Given the description of an element on the screen output the (x, y) to click on. 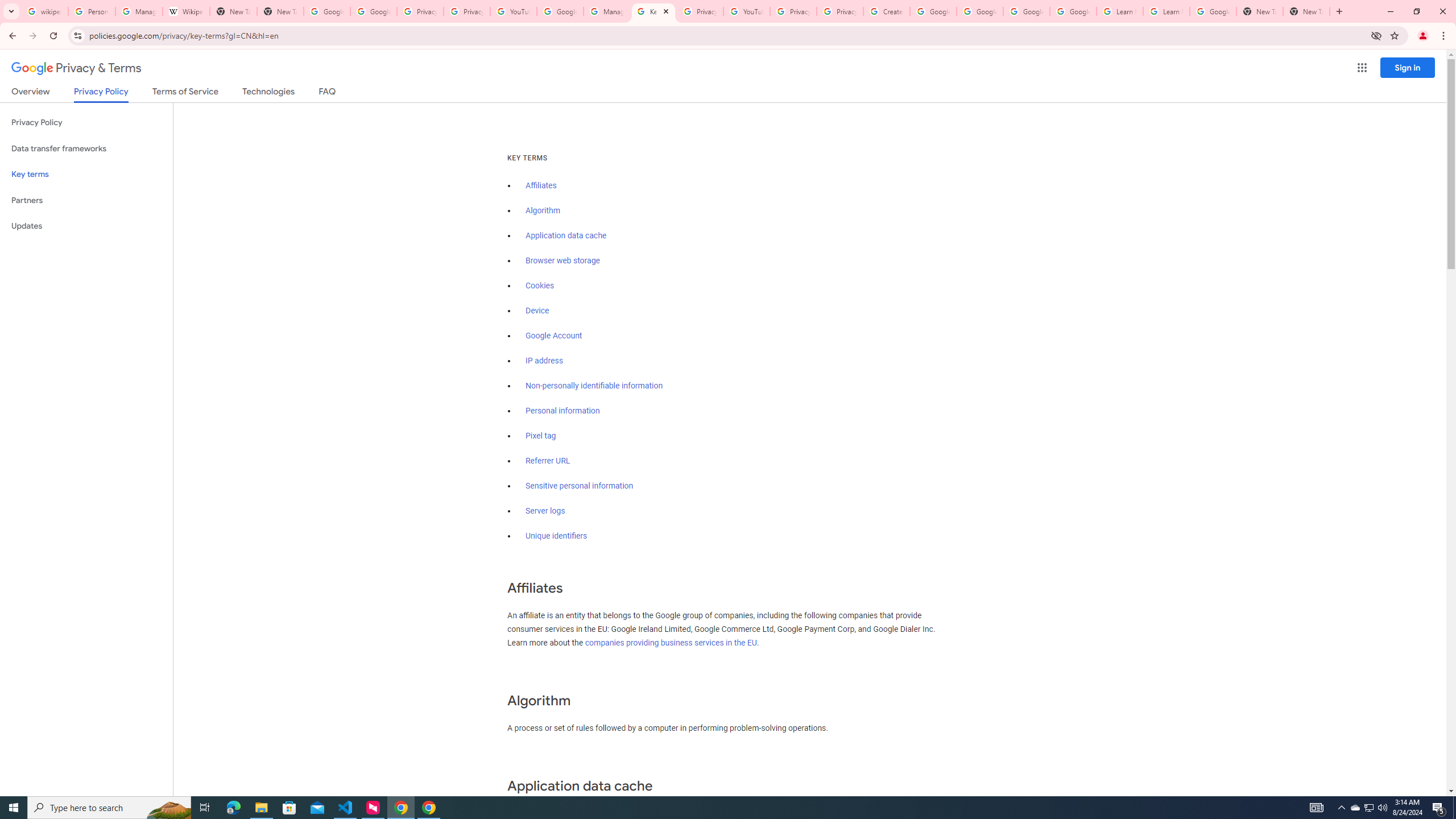
companies providing business services in the EU (671, 642)
Google Account Help (559, 11)
Personal information (562, 411)
Google Drive: Sign-in (373, 11)
Google Account (1213, 11)
Browser web storage (562, 260)
Google Account Help (980, 11)
